Given the description of an element on the screen output the (x, y) to click on. 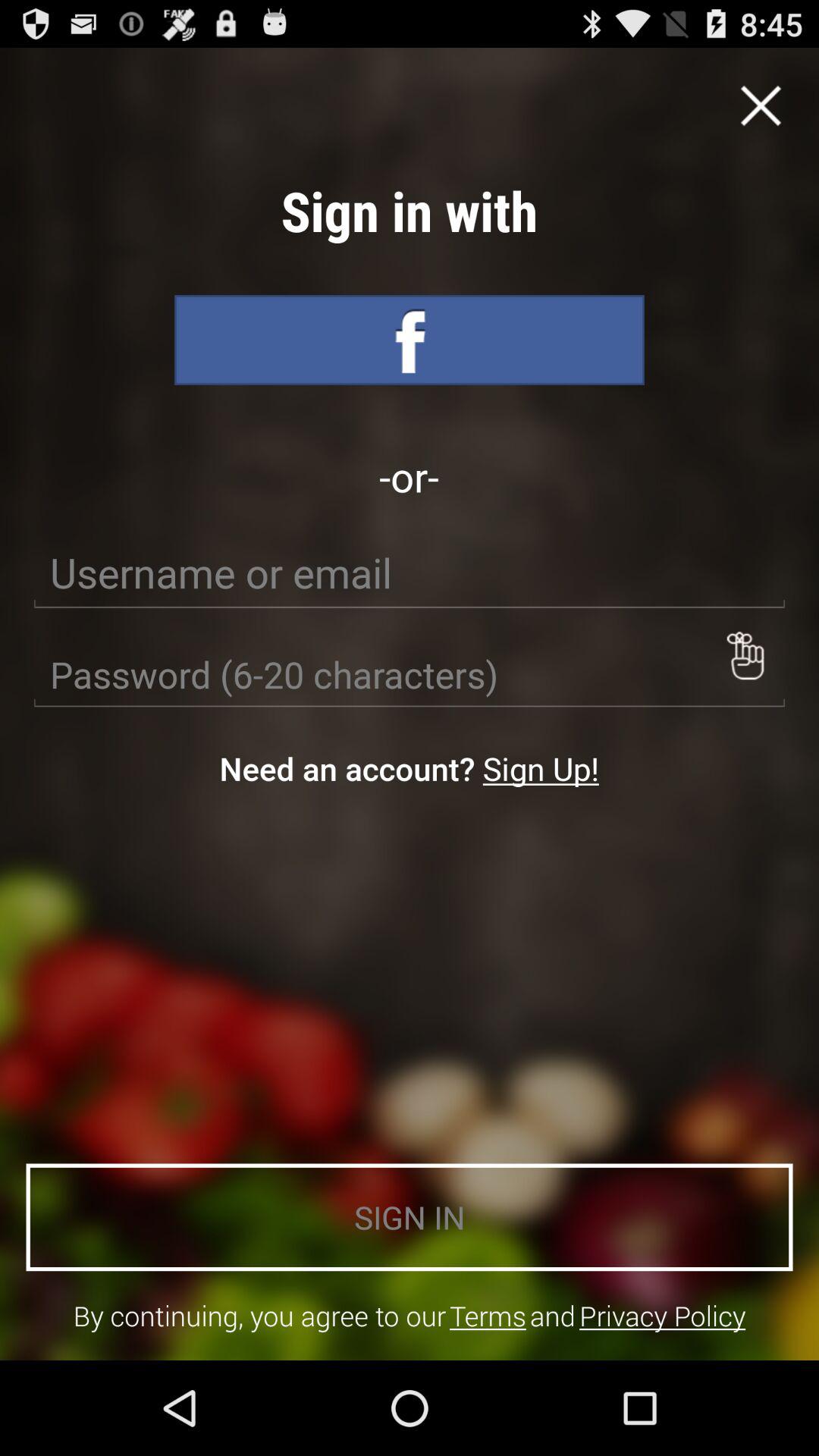
username option to log in (409, 572)
